Given the description of an element on the screen output the (x, y) to click on. 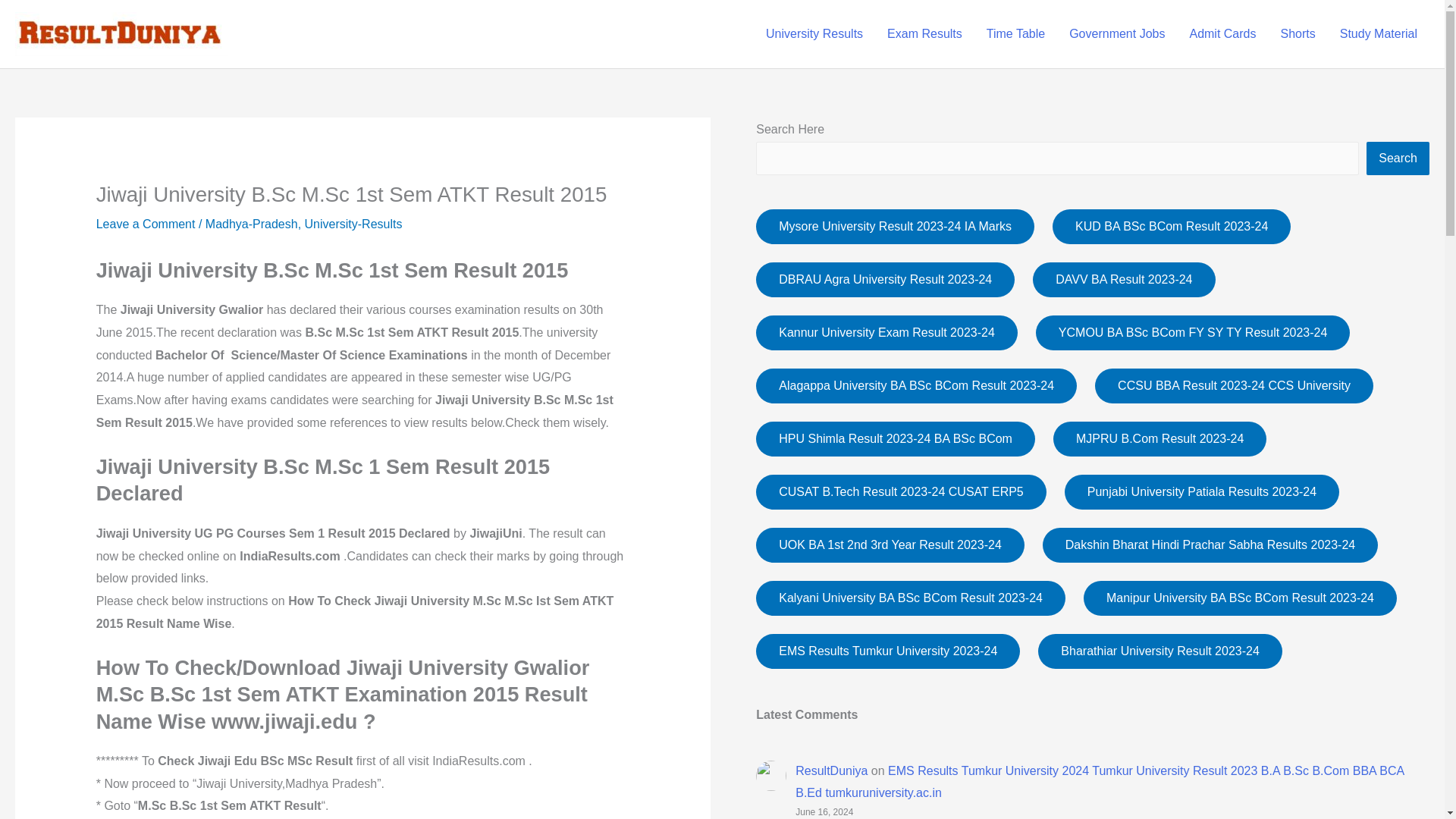
Time Table (1015, 33)
Admit Cards (1222, 33)
DBRAU Agra University Result 2023-24 (884, 279)
Leave a Comment (145, 223)
DAVV BA Result 2023-24 (1123, 279)
Exam Results (924, 33)
KUD BA BSc BCom Result 2023-24 (1171, 226)
Madhya-Pradesh (251, 223)
Government Jobs (1116, 33)
Search (1398, 158)
University Results (814, 33)
Mysore University Result 2023-24 IA Marks (894, 226)
Shorts (1297, 33)
University-Results (353, 223)
Kannur University Exam Result 2023-24 (886, 332)
